Given the description of an element on the screen output the (x, y) to click on. 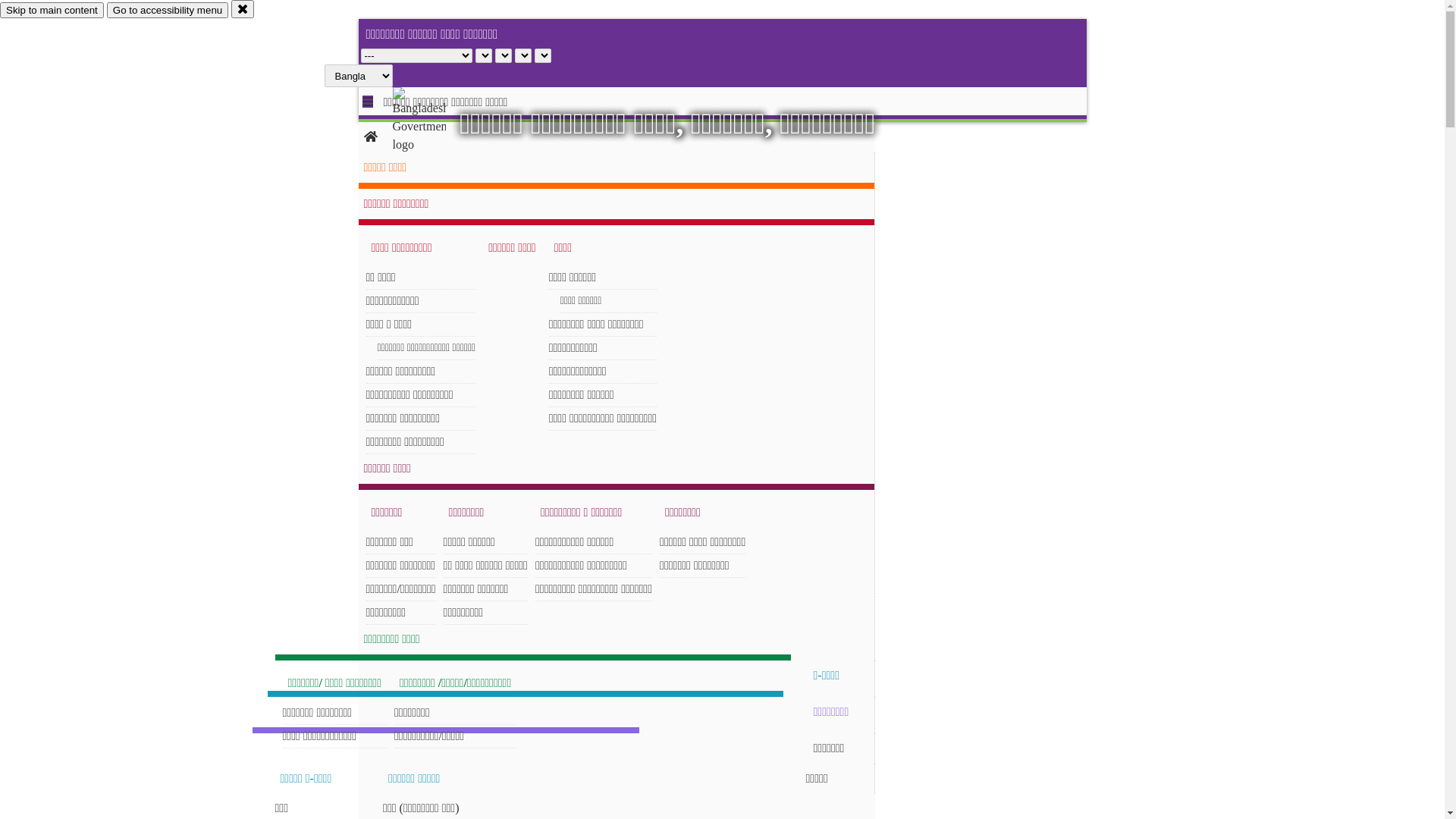
Skip to main content Element type: text (51, 10)
close Element type: hover (242, 9)

                
             Element type: hover (431, 120)
Go to accessibility menu Element type: text (167, 10)
